Given the description of an element on the screen output the (x, y) to click on. 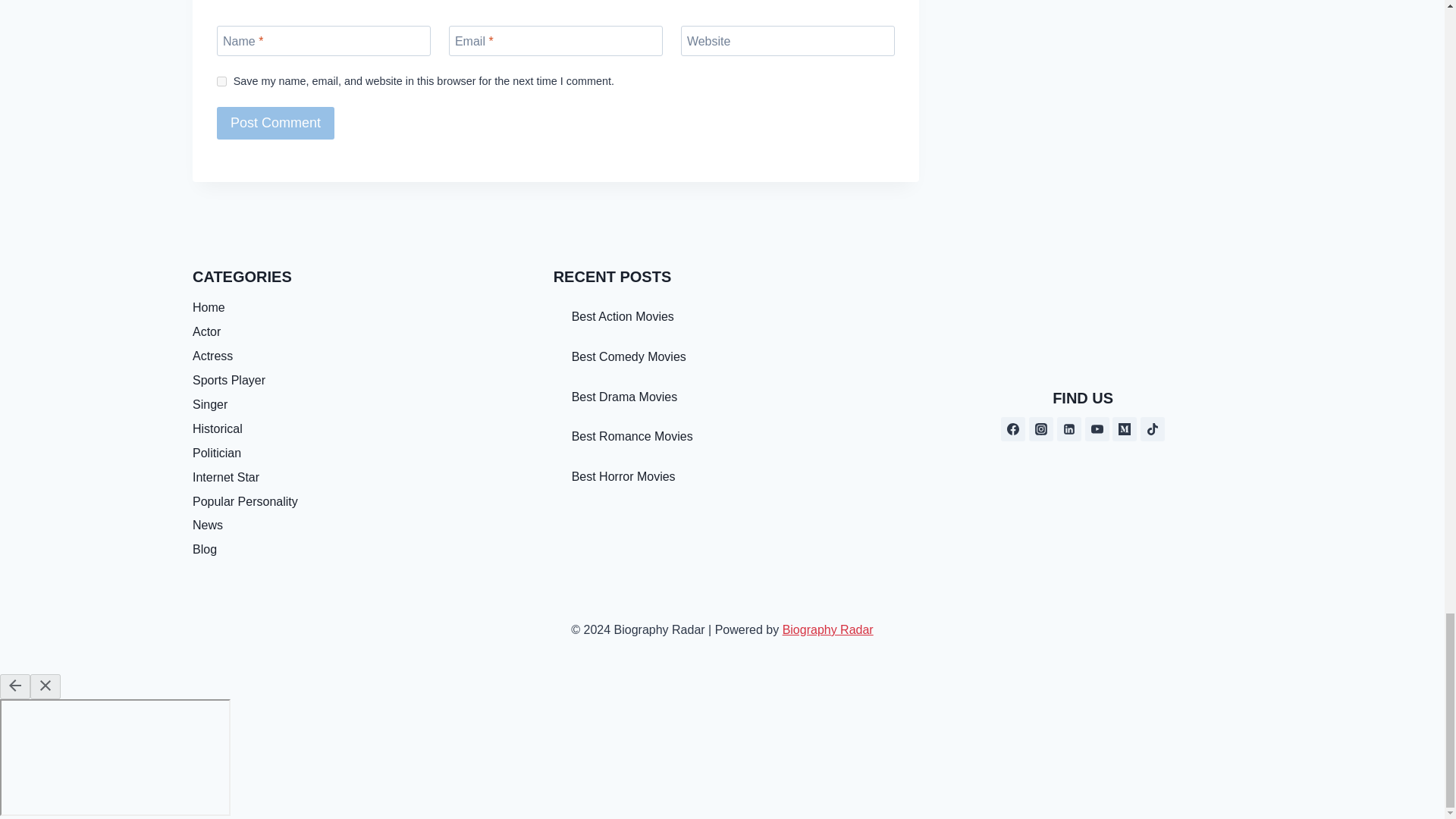
Post Comment (275, 123)
yes (221, 81)
